Given the description of an element on the screen output the (x, y) to click on. 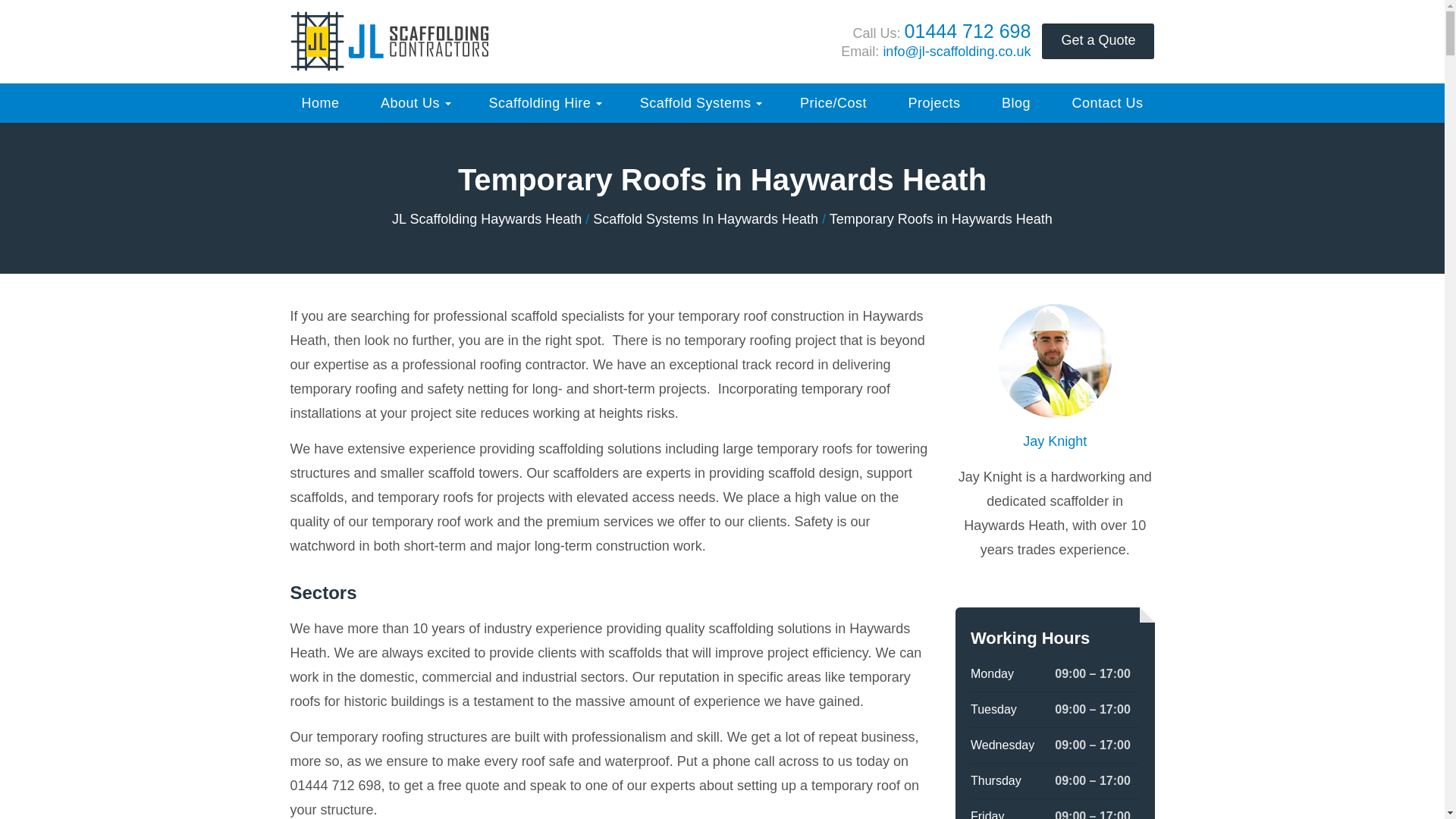
01444 712 698 (967, 30)
Scaffolding Hire (543, 102)
Contact Us (1106, 102)
Scaffold Systems (699, 102)
JL Scaffolding Haywards Heath (485, 218)
Get a Quote (1098, 40)
Projects (933, 102)
JL Scaffolding Haywards Heath (485, 218)
Scaffold Systems In Haywards Heath (705, 218)
About Us (413, 102)
